Given the description of an element on the screen output the (x, y) to click on. 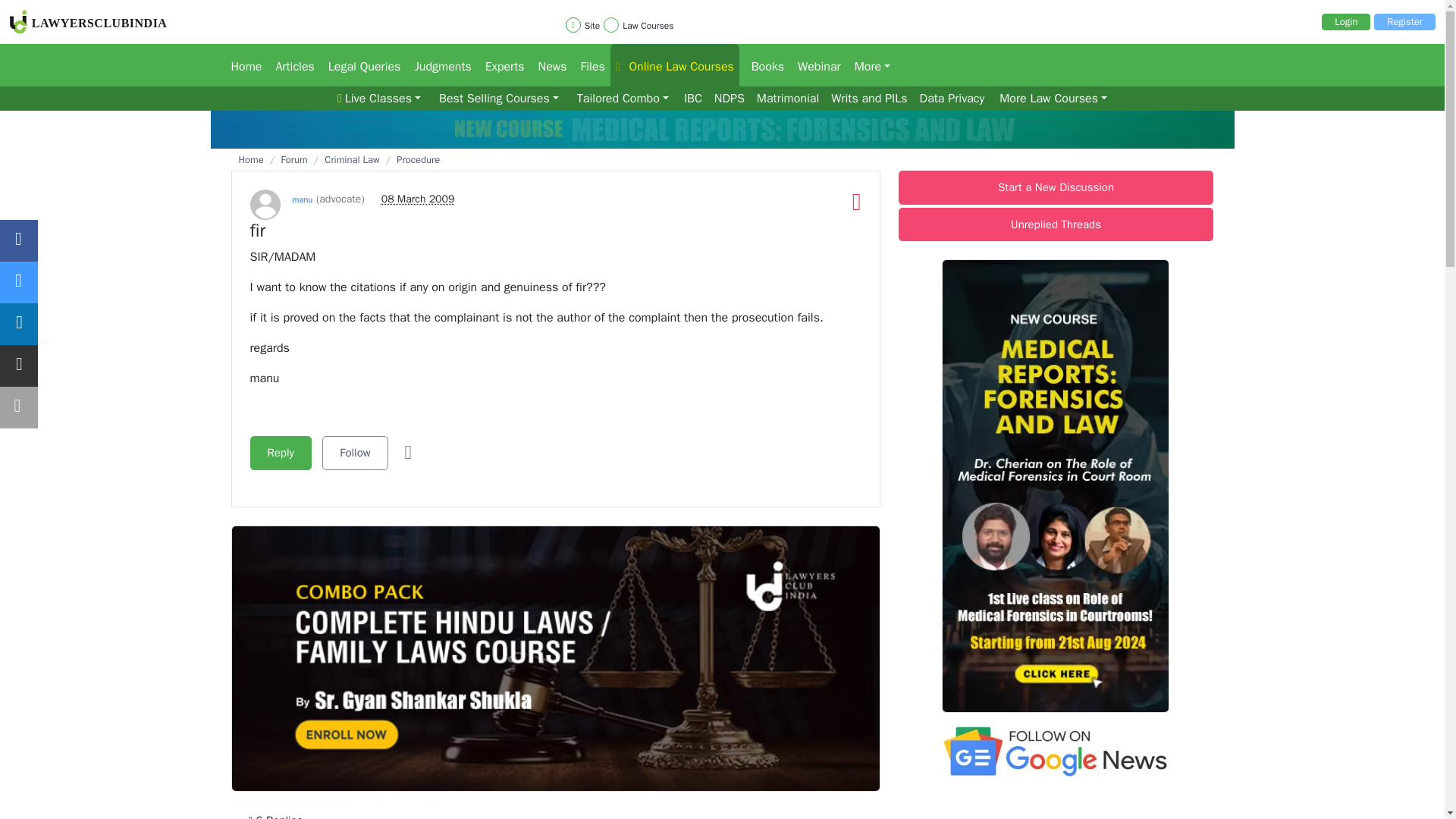
Best Selling Courses (498, 98)
Experts (499, 65)
Judgments (436, 65)
Share Files (589, 65)
Books (762, 65)
News (547, 65)
Live Classes (378, 98)
Articles (289, 65)
More (867, 65)
Judgments (436, 65)
